Given the description of an element on the screen output the (x, y) to click on. 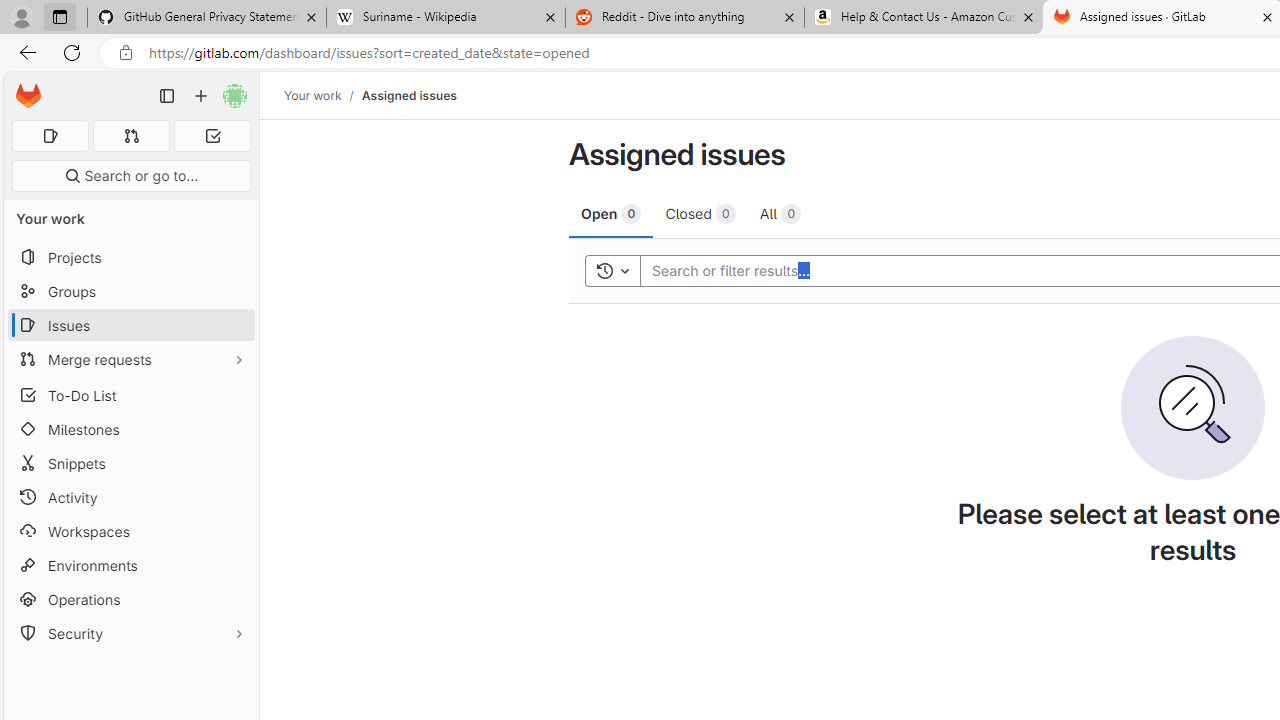
To-Do list 0 (212, 136)
Operations (130, 599)
Milestones (130, 429)
Projects (130, 257)
All 0 (780, 213)
Issues (130, 325)
Security (130, 633)
Activity (130, 497)
Assigned issues 0 (50, 136)
Issues (130, 325)
